Given the description of an element on the screen output the (x, y) to click on. 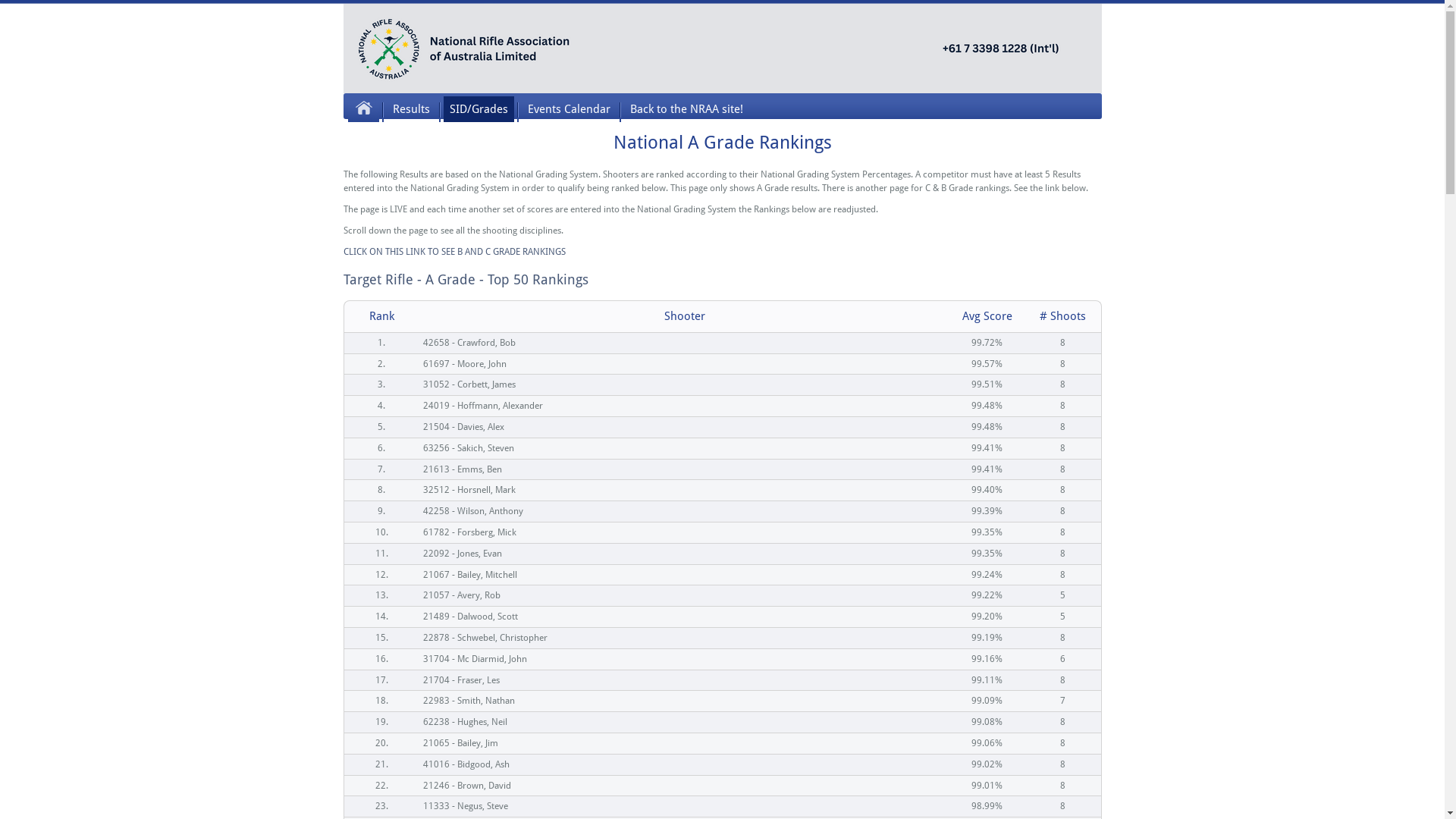
CLICK ON THIS LINK TO SEE B AND C GRADE RANKINGS Element type: text (453, 251)
Home Element type: text (362, 109)
Events Calendar Element type: text (568, 109)
Back to the NRAA site! Element type: text (685, 109)
SID/Grades Element type: text (477, 109)
Results Element type: text (411, 109)
